Given the description of an element on the screen output the (x, y) to click on. 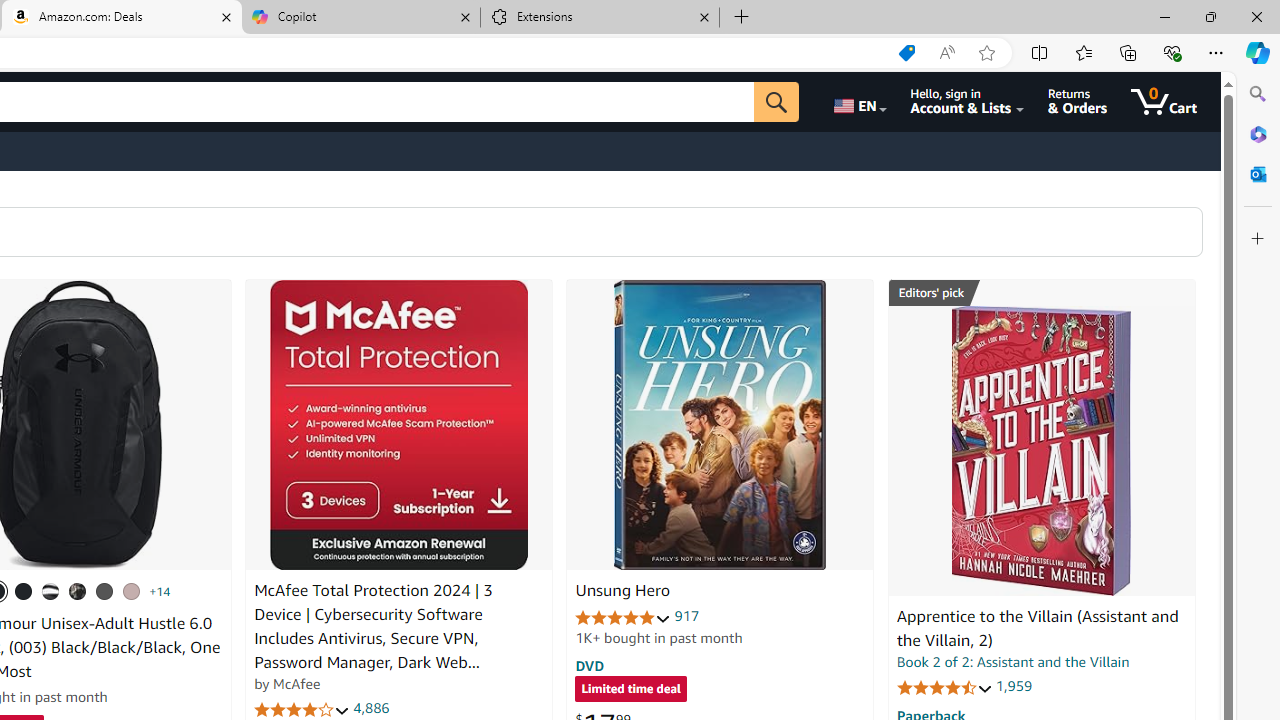
(001) Black / Black / Metallic Gold (24, 591)
4.1 out of 5 stars (301, 709)
1,959 (1013, 686)
(015) Tetra Gray / Tetra Gray / Gray Matter (131, 591)
Favorites (1083, 52)
Go (776, 101)
Editors' pick Best Science Fiction & Fantasy (1041, 293)
Apprentice to the Villain (Assistant and the Villain, 2) (1037, 628)
0 items in cart (1163, 101)
(002) Black / Black / White (51, 591)
Unsung Hero (622, 591)
